Given the description of an element on the screen output the (x, y) to click on. 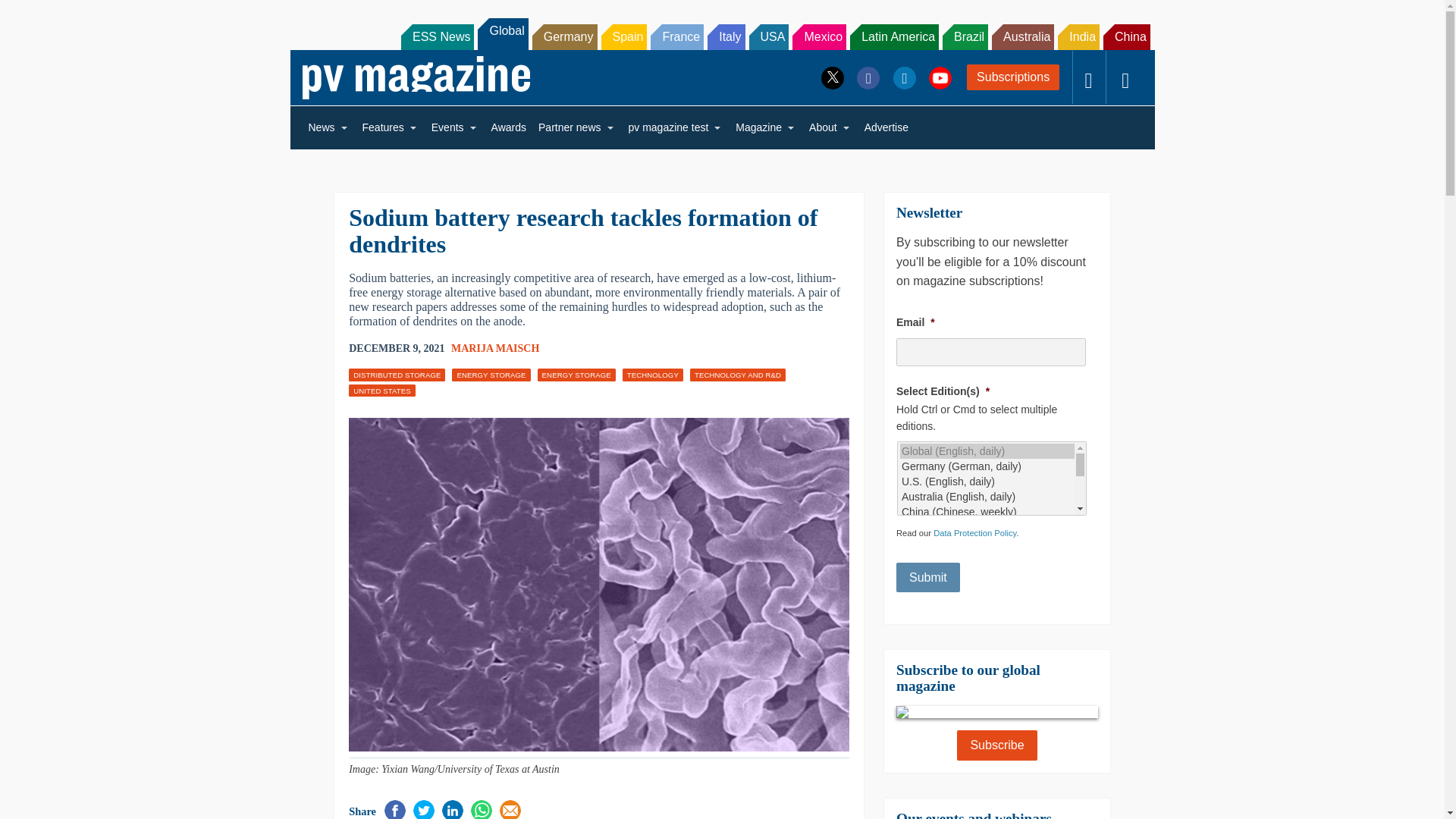
Submit (927, 577)
France (676, 36)
China (1126, 36)
USA (769, 36)
India (1078, 36)
pv magazine - Photovoltaics Markets and Technology (415, 77)
Latin America (894, 36)
Mexico (818, 36)
Spain (622, 36)
Australia (1022, 36)
